Given the description of an element on the screen output the (x, y) to click on. 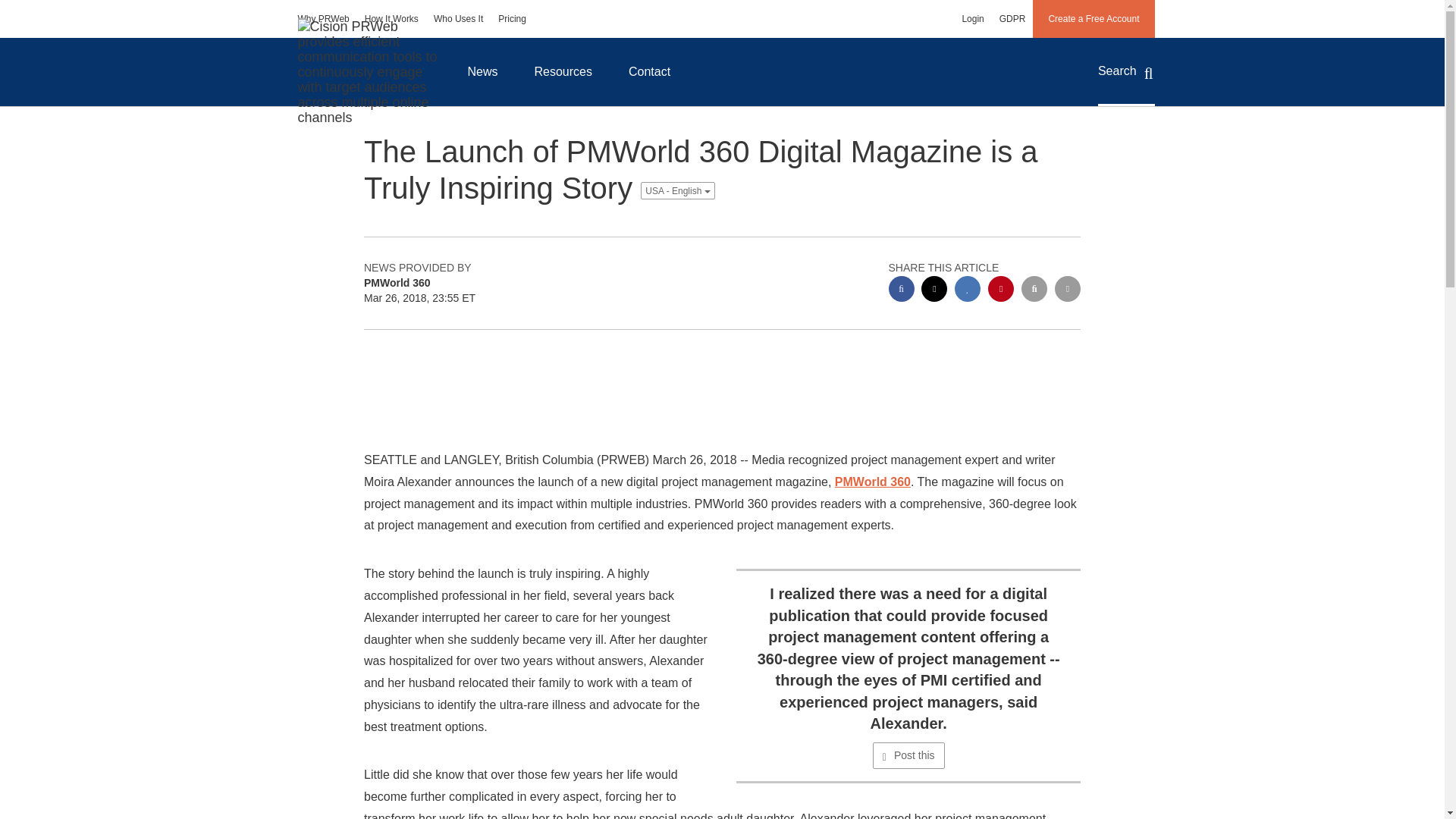
Pricing (512, 18)
GDPR (1012, 18)
Contact (649, 71)
Resources (563, 71)
PMWorld 360 (872, 481)
Login (972, 18)
News (481, 71)
How It Works (391, 18)
Create a Free Account (1093, 18)
